Given the description of an element on the screen output the (x, y) to click on. 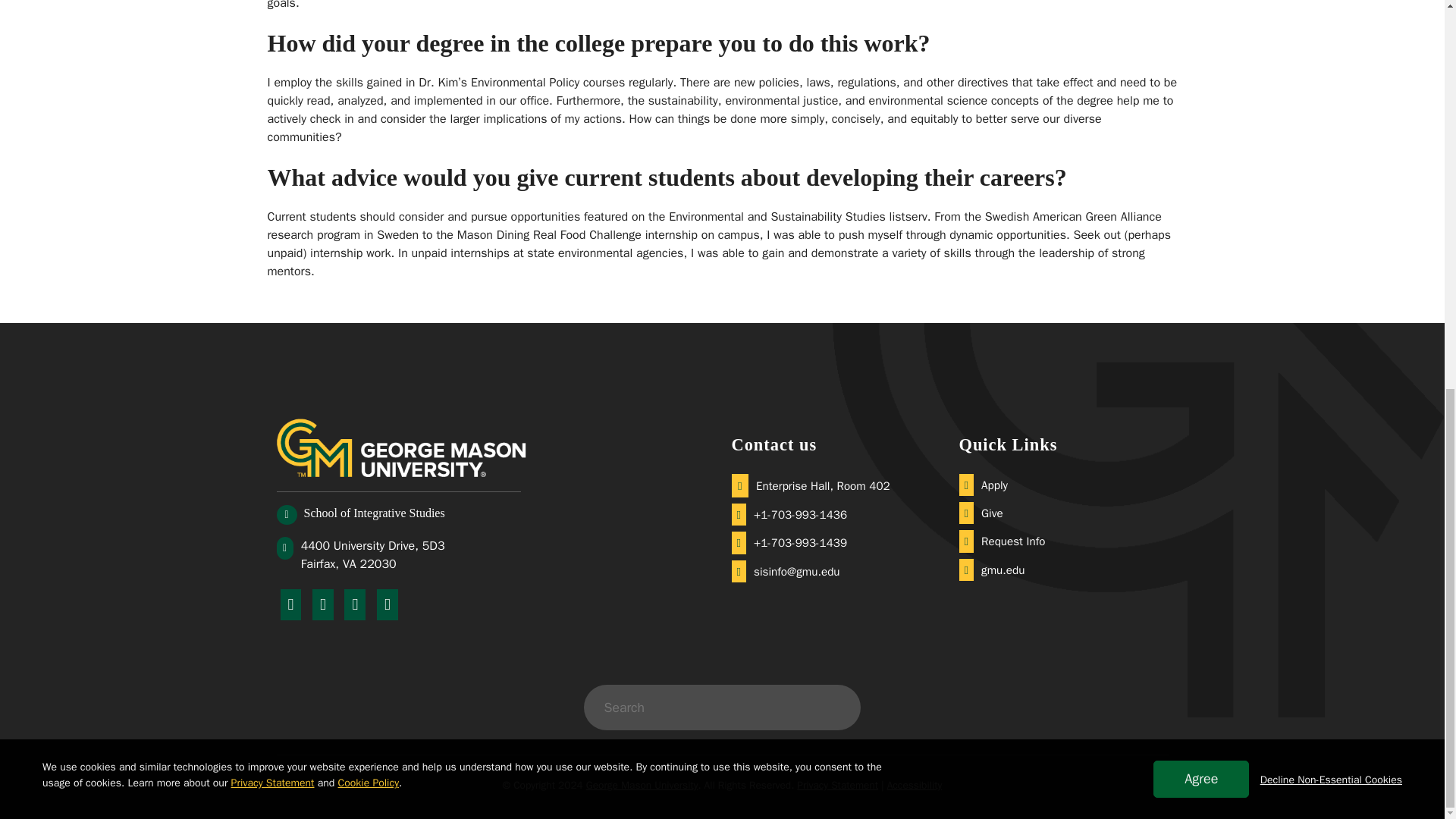
George Mason University Privacy Statement (272, 43)
Decline Non-Essential Cookies (1331, 41)
Cookie Policy (367, 43)
George Mason University Cookie Policy (367, 43)
Privacy Statement (272, 43)
Agree (1201, 40)
